Given the description of an element on the screen output the (x, y) to click on. 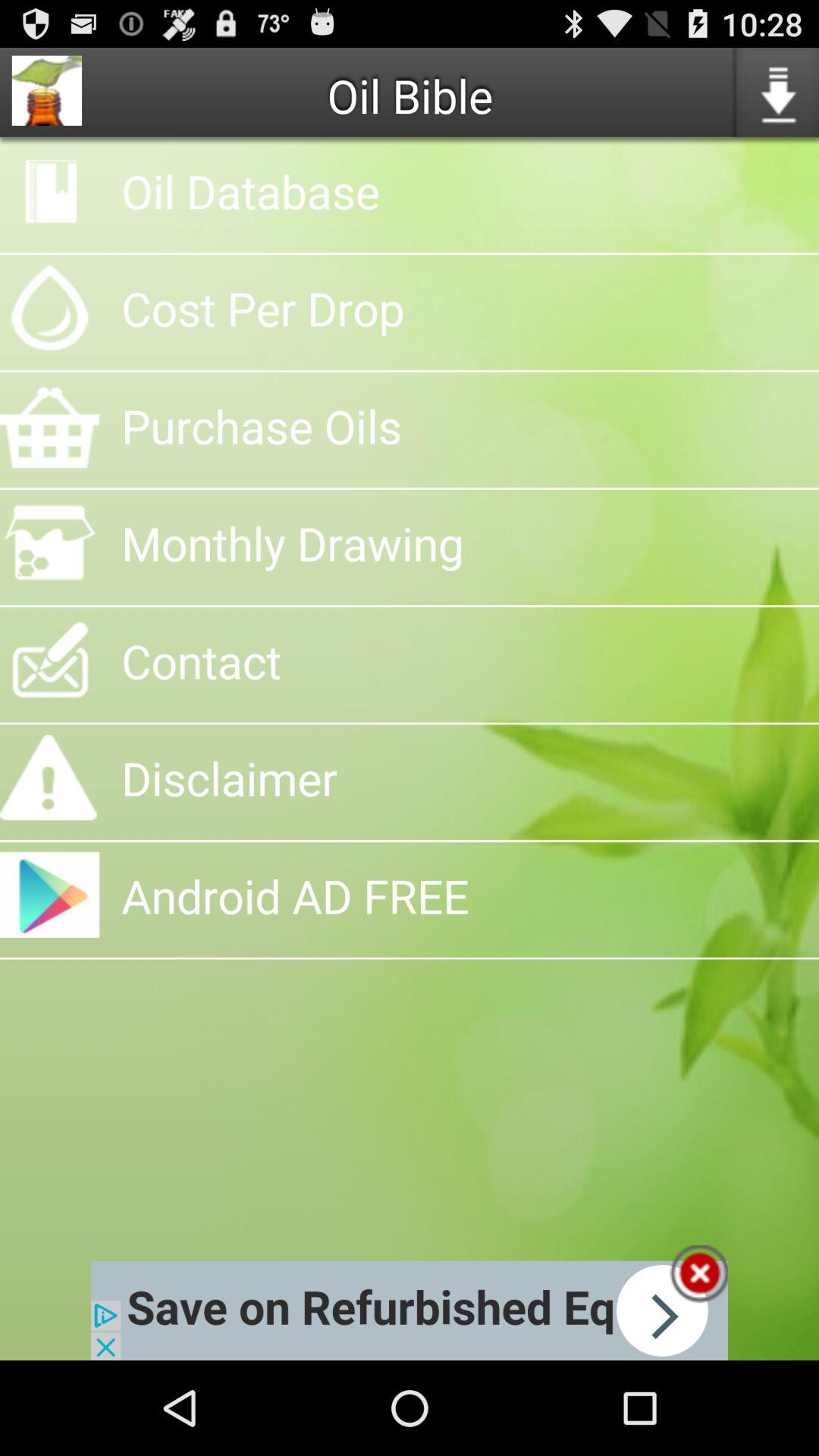
close box (698, 1273)
